Given the description of an element on the screen output the (x, y) to click on. 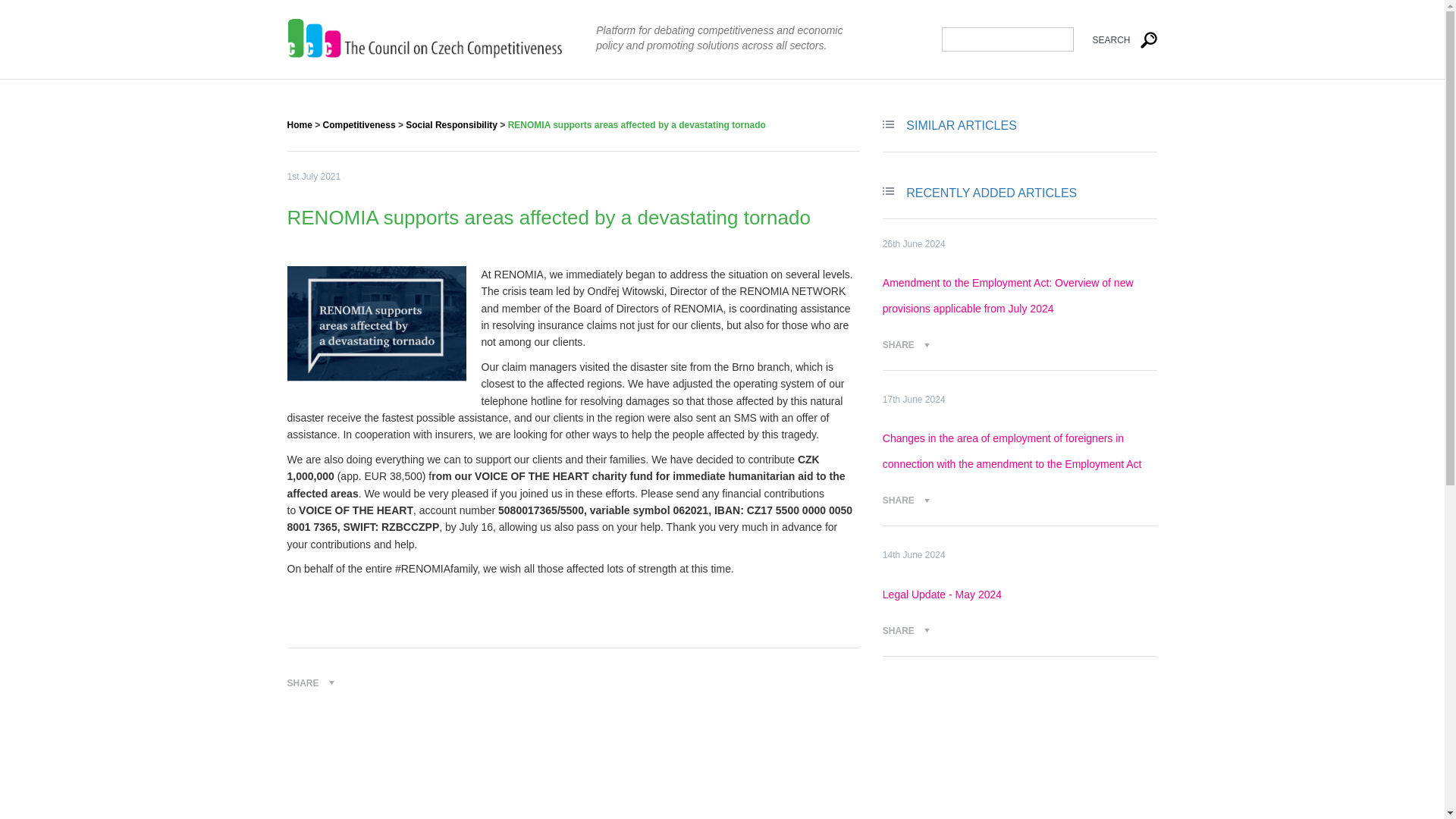
Search (1115, 40)
Search (1115, 40)
Search (1115, 40)
Legal Update - May 2024 (941, 594)
SIMILAR ARTICLES (960, 124)
Social Responsibility (451, 124)
Home (298, 124)
SHARE (906, 630)
